Given the description of an element on the screen output the (x, y) to click on. 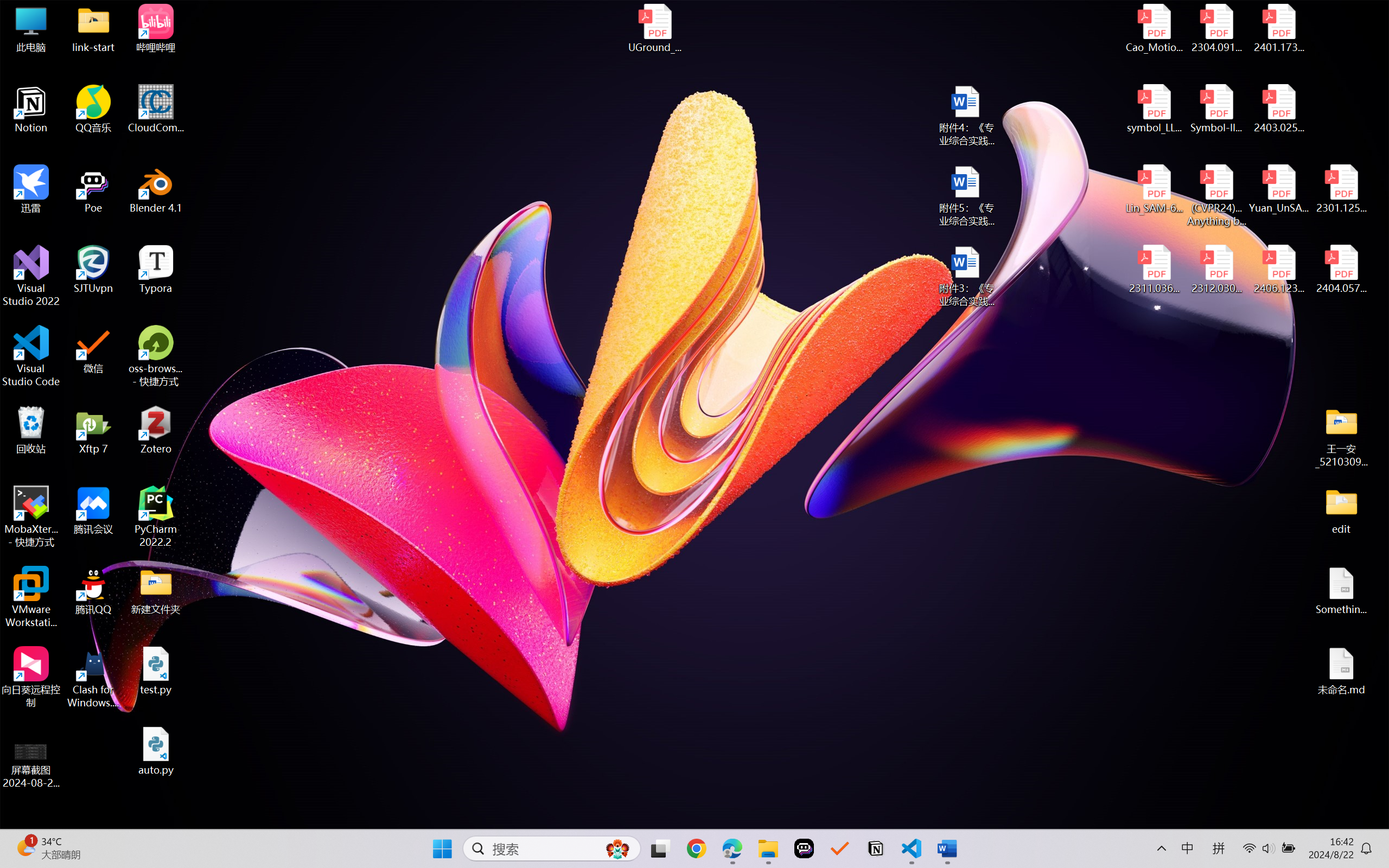
2301.12597v3.pdf (1340, 189)
PyCharm 2022.2 (156, 516)
UGround_paper.pdf (654, 28)
Xftp 7 (93, 430)
Something.md (1340, 591)
auto.py (156, 751)
Visual Studio Code (31, 355)
